Given the description of an element on the screen output the (x, y) to click on. 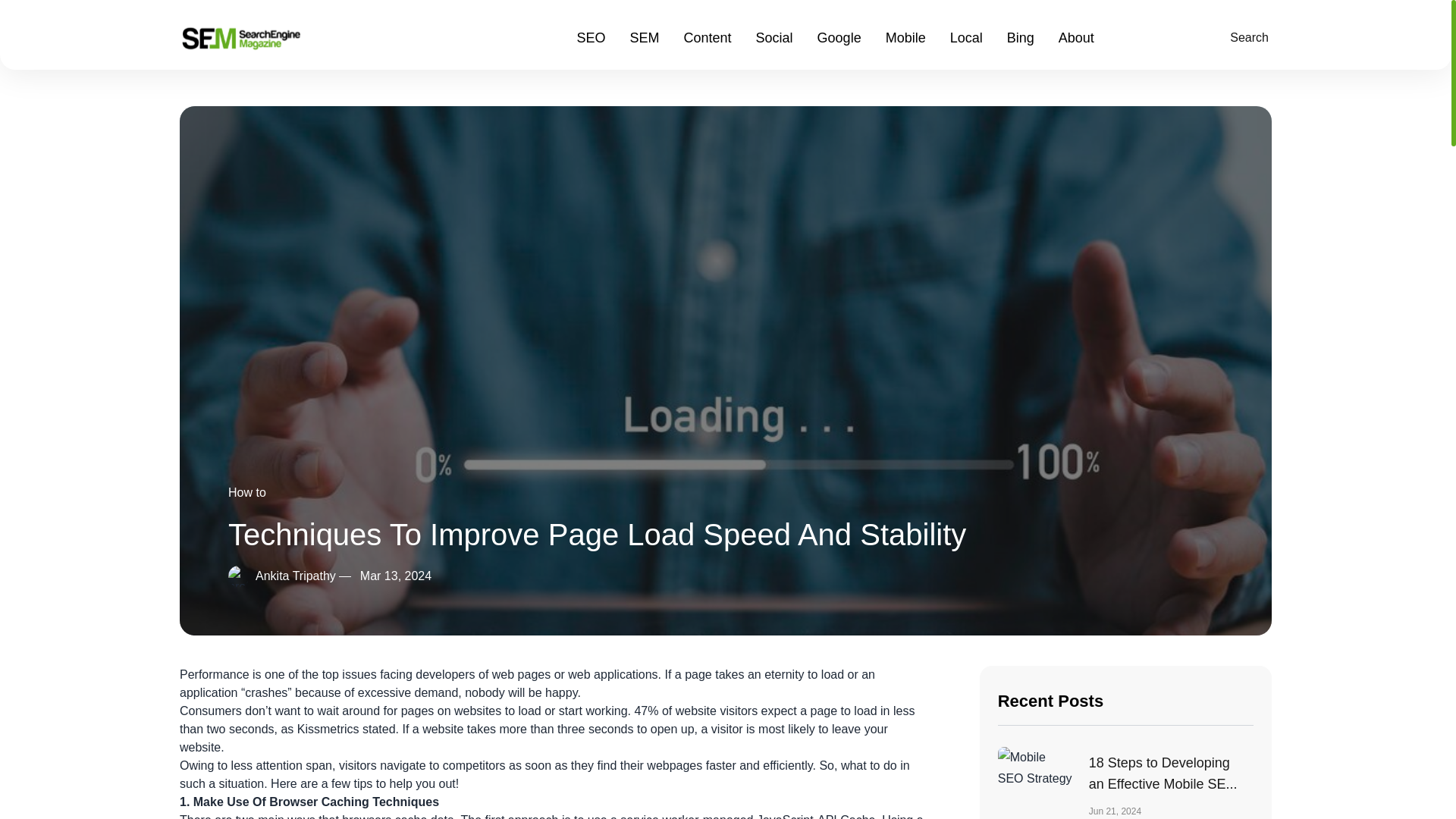
Content (707, 37)
Bing (1020, 37)
Mobile (905, 37)
SEO (590, 37)
Google (839, 37)
Search (1246, 37)
SEM (644, 37)
Social (774, 37)
Posts by Ankita Tripathy (296, 575)
How to (247, 492)
